Given the description of an element on the screen output the (x, y) to click on. 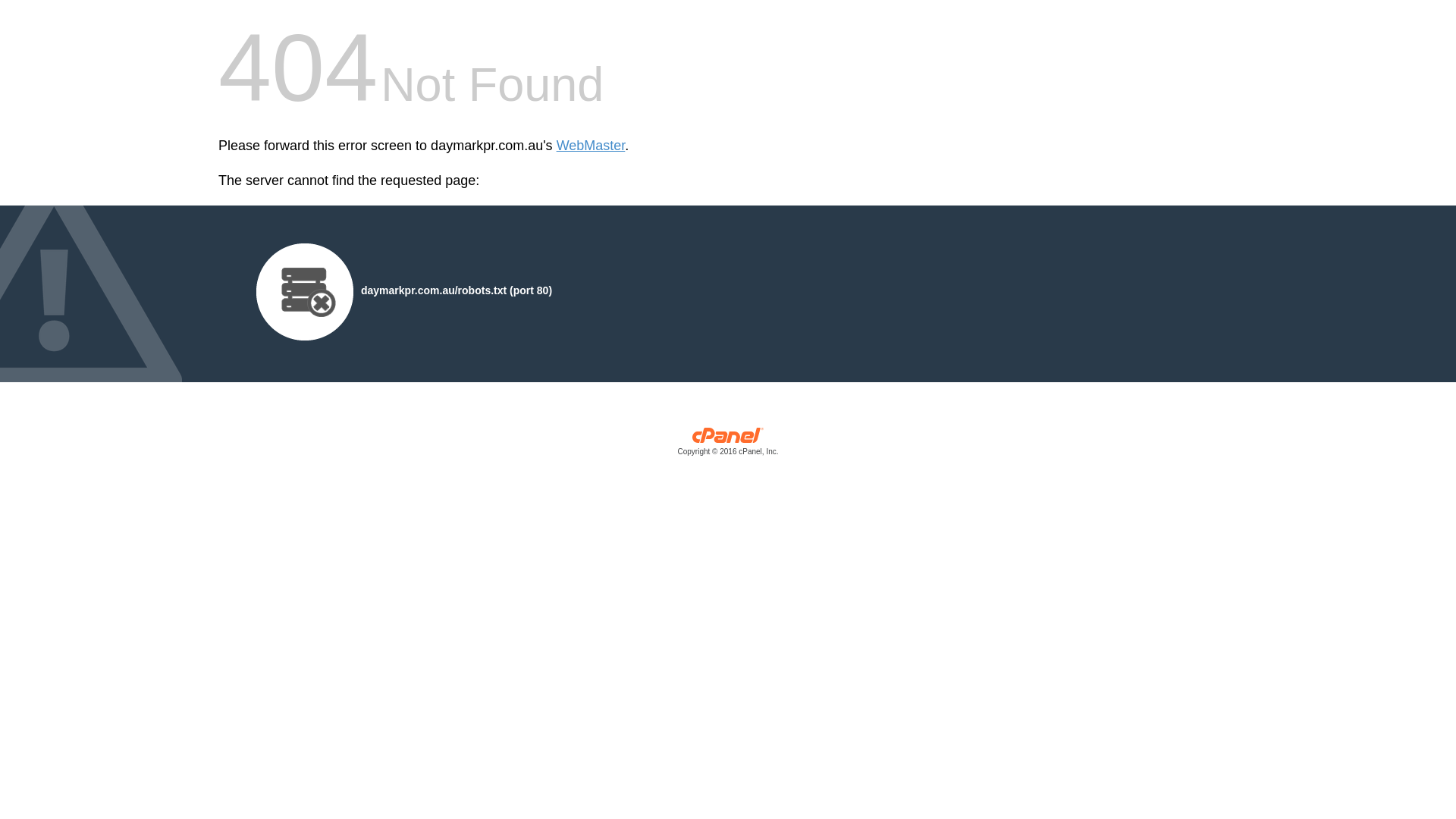
WebMaster Element type: text (590, 145)
